Given the description of an element on the screen output the (x, y) to click on. 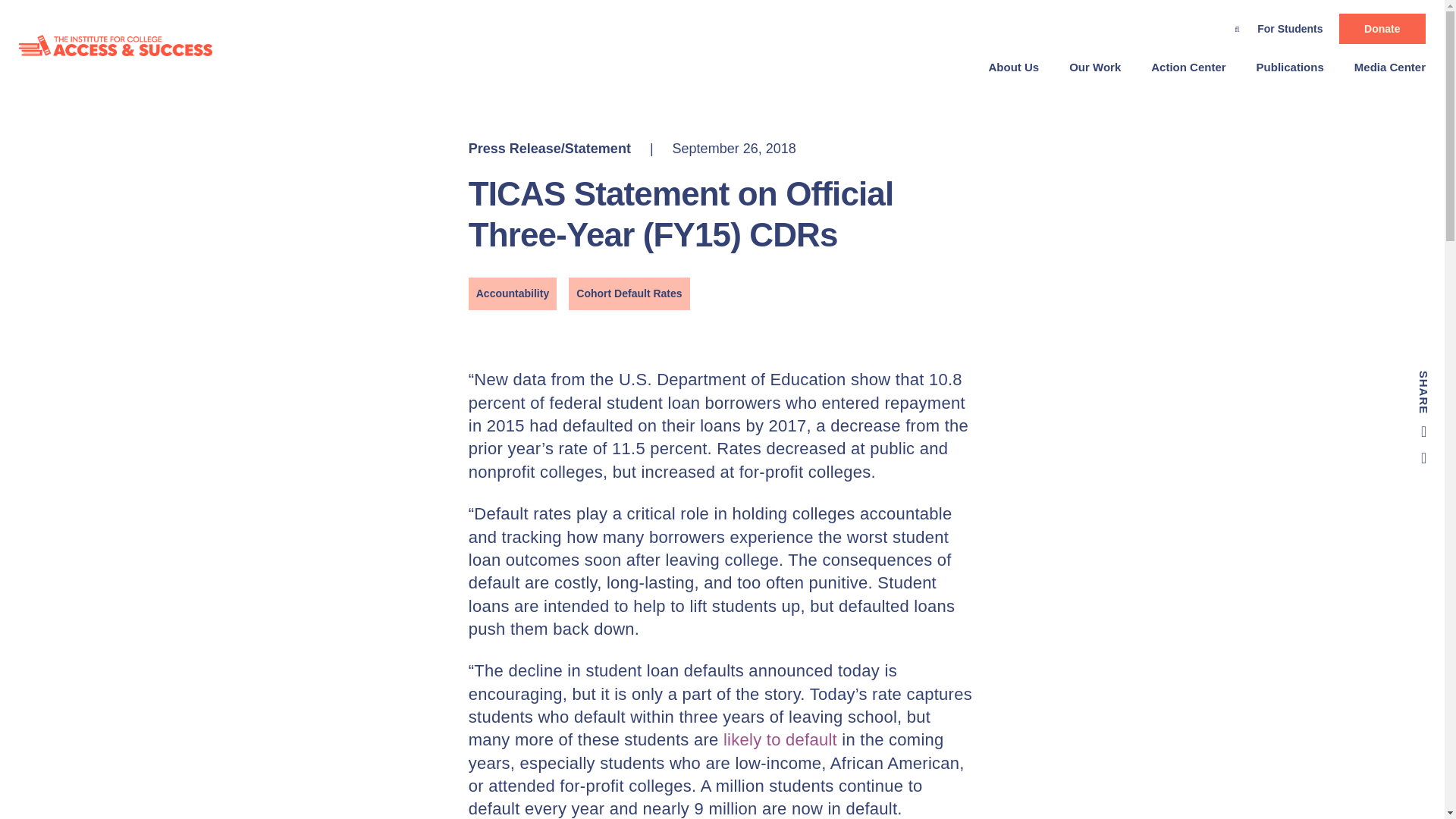
Media Center (1382, 66)
For Students (1289, 28)
Publications (1290, 66)
Search (1236, 25)
Donate (1382, 28)
Action Center (1187, 66)
About Us (1014, 66)
Our Work (1094, 66)
